Given the description of an element on the screen output the (x, y) to click on. 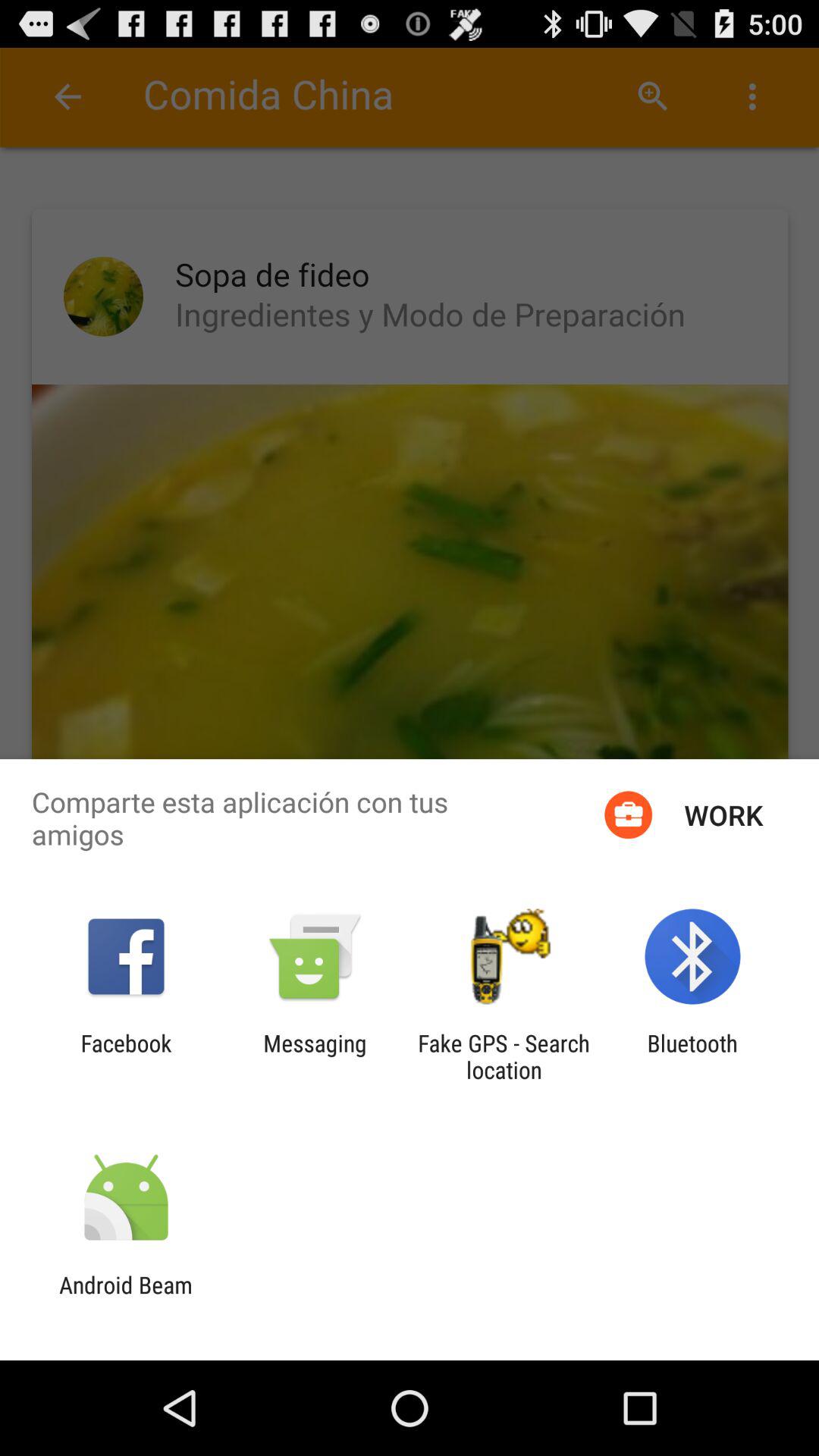
open icon to the left of bluetooth (503, 1056)
